Given the description of an element on the screen output the (x, y) to click on. 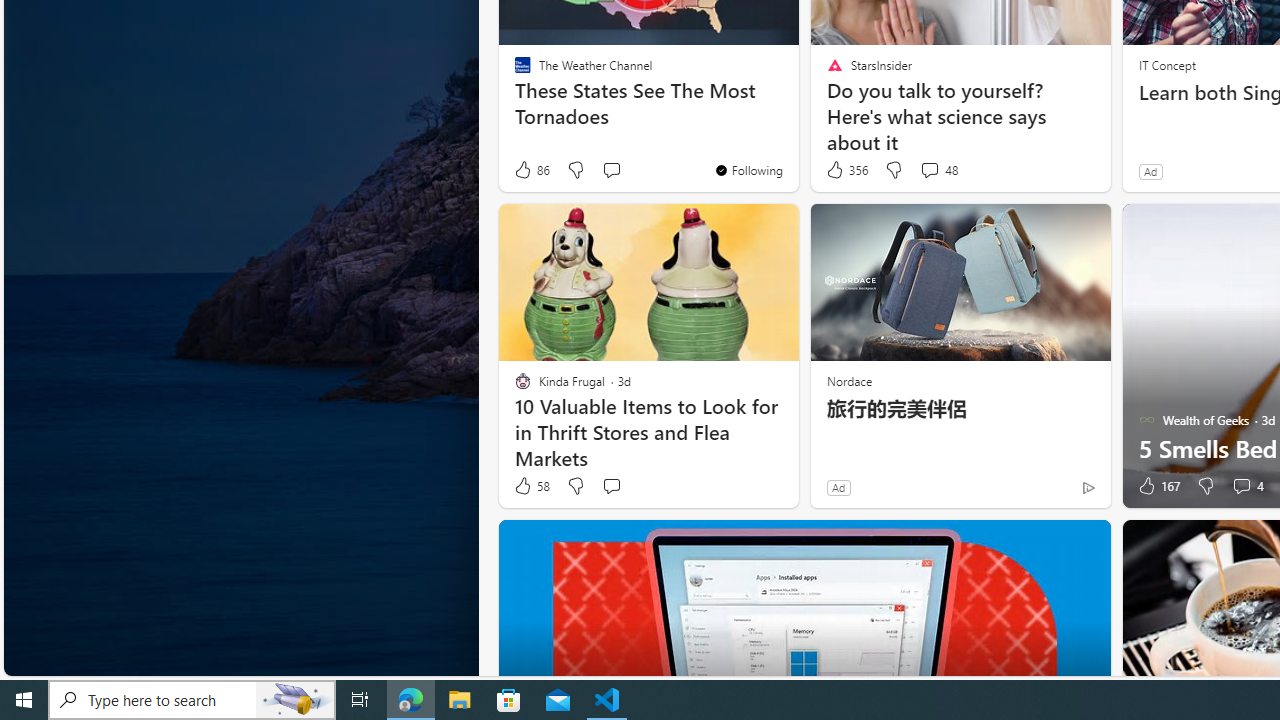
You're following The Weather Channel (747, 169)
356 Like (845, 170)
